Given the description of an element on the screen output the (x, y) to click on. 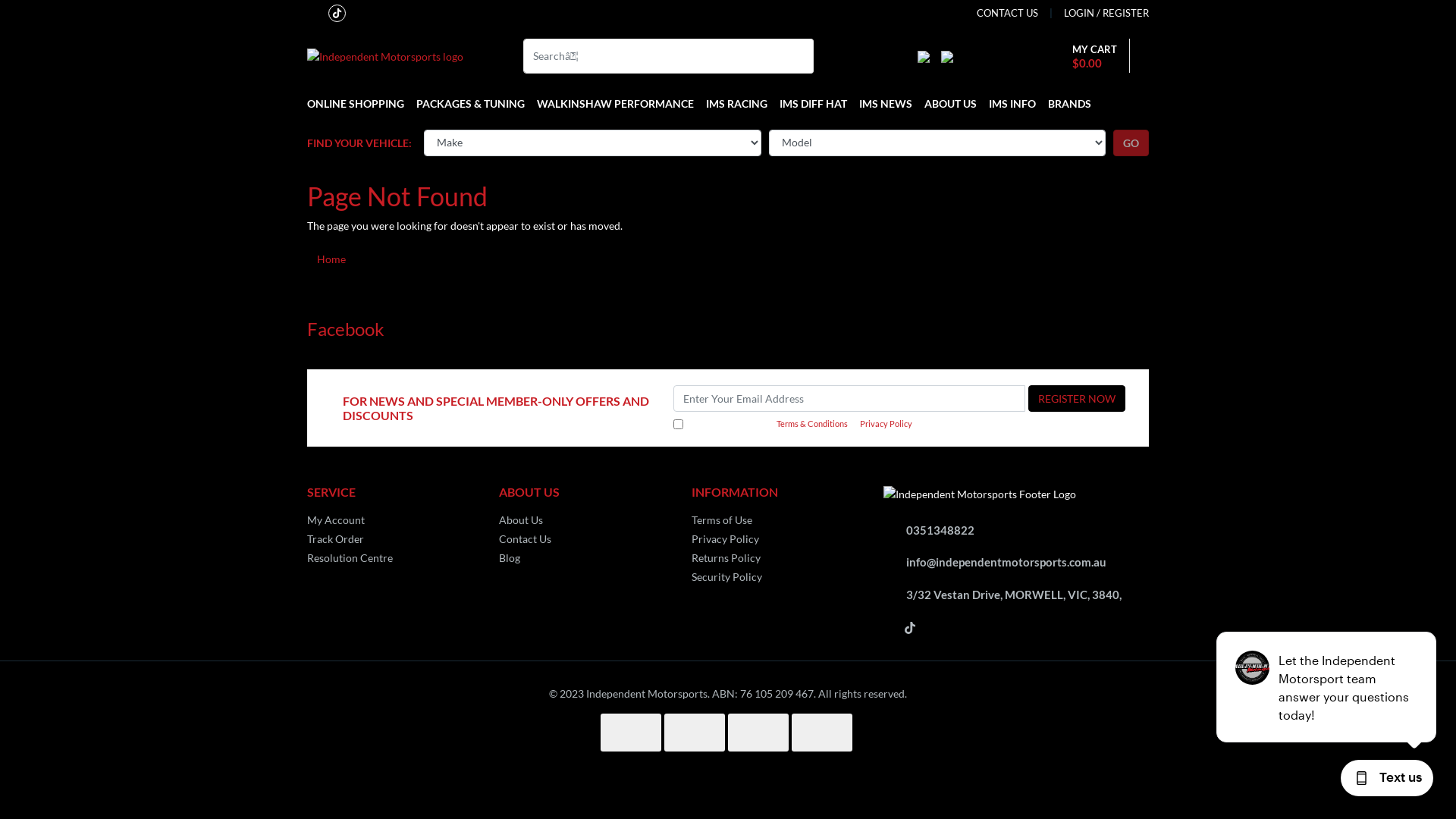
Privacy Policy Element type: text (775, 538)
CONTACT US Element type: text (1007, 13)
0351348822 Element type: text (940, 529)
IMS INFO Element type: text (1011, 103)
IMS DIFF HAT Element type: text (813, 103)
info@independentmotorsports.com.au Element type: text (1006, 561)
Search Element type: text (803, 54)
Terms & Conditions Element type: text (811, 423)
Terms of Use Element type: text (775, 519)
Privacy Policy Element type: text (885, 423)
Independent Motorsports on tiktok Element type: hover (909, 625)
Home Element type: text (331, 258)
MY CART
$0.00 Element type: text (1090, 55)
PACKAGES & TUNING Element type: text (470, 103)
Independent Motorsports on tiktok Element type: hover (336, 11)
Returns Policy Element type: text (775, 557)
ABOUT US Element type: text (950, 103)
Independent Motorsports Element type: hover (385, 54)
GO Element type: text (1130, 142)
Contact Us Element type: text (583, 538)
Security Policy Element type: text (775, 576)
ONLINE SHOPPING Element type: text (358, 103)
WALKINSHAW PERFORMANCE Element type: text (614, 103)
IMS NEWS Element type: text (885, 103)
REGISTER NOW Element type: text (1076, 398)
IMS RACING Element type: text (736, 103)
Track Order Element type: text (391, 538)
About Us Element type: text (583, 519)
BRANDS Element type: text (1066, 103)
Blog Element type: text (583, 557)
My Account Element type: text (391, 519)
Resolution Centre Element type: text (391, 557)
LOGIN / REGISTER Element type: text (1093, 13)
